Given the description of an element on the screen output the (x, y) to click on. 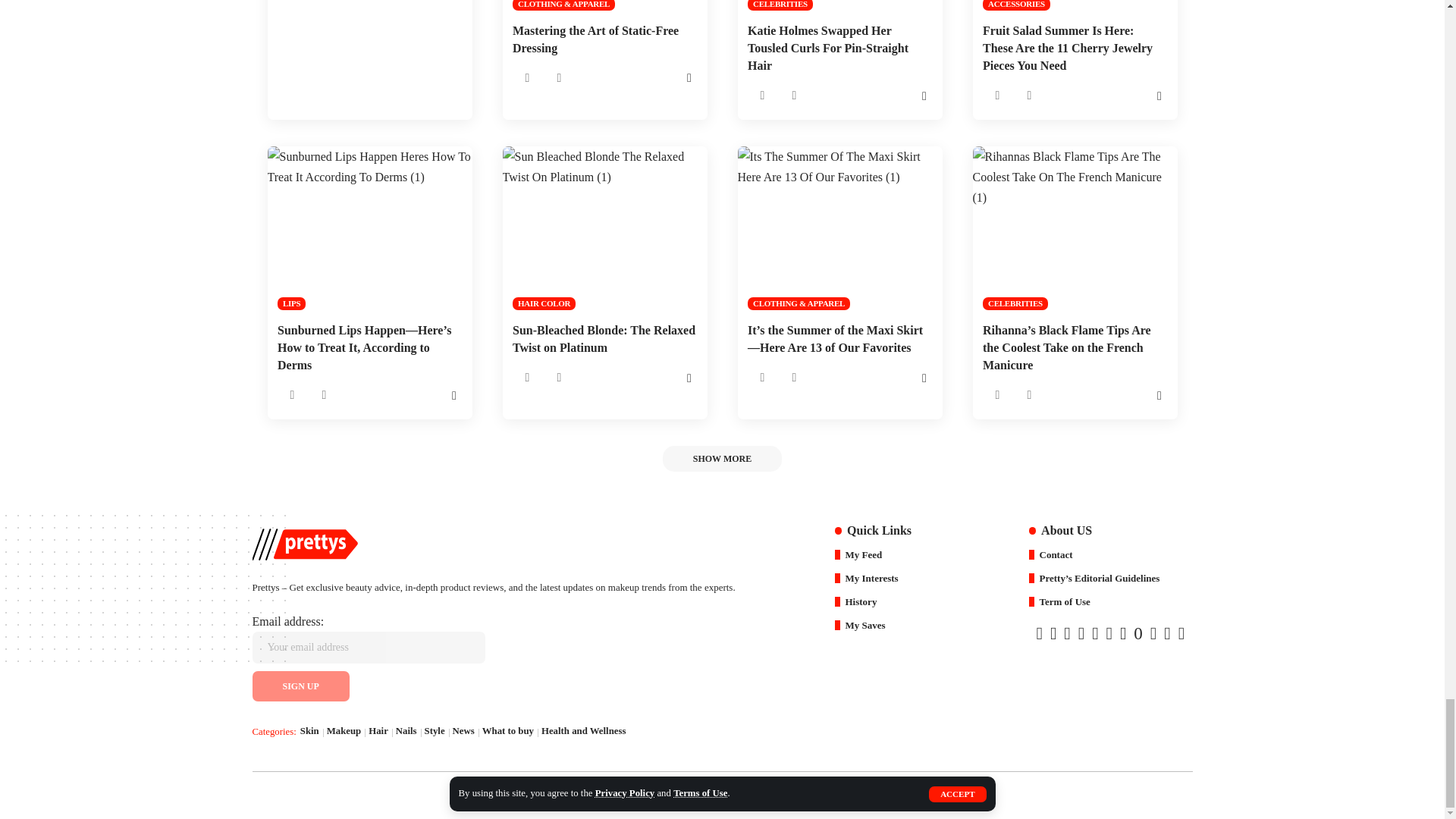
Mastering the Art of Static-Free Dressing (604, 5)
Sign up (300, 685)
Katie Holmes Swapped Her Tousled Curls For Pin-Straight Hair (839, 5)
